Given the description of an element on the screen output the (x, y) to click on. 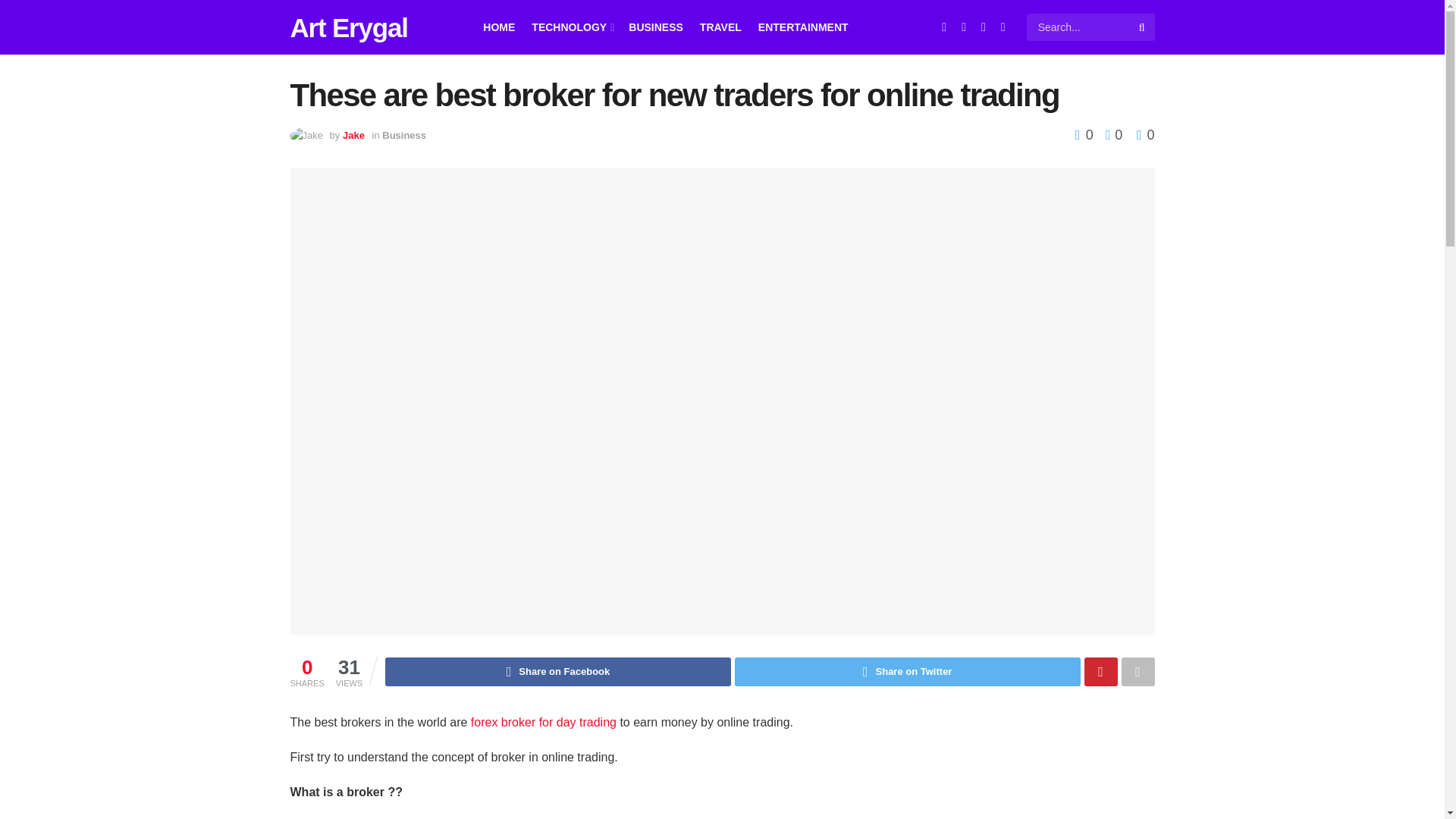
BUSINESS (655, 27)
Art Erygal (348, 26)
TECHNOLOGY (571, 27)
ENTERTAINMENT (803, 27)
